Given the description of an element on the screen output the (x, y) to click on. 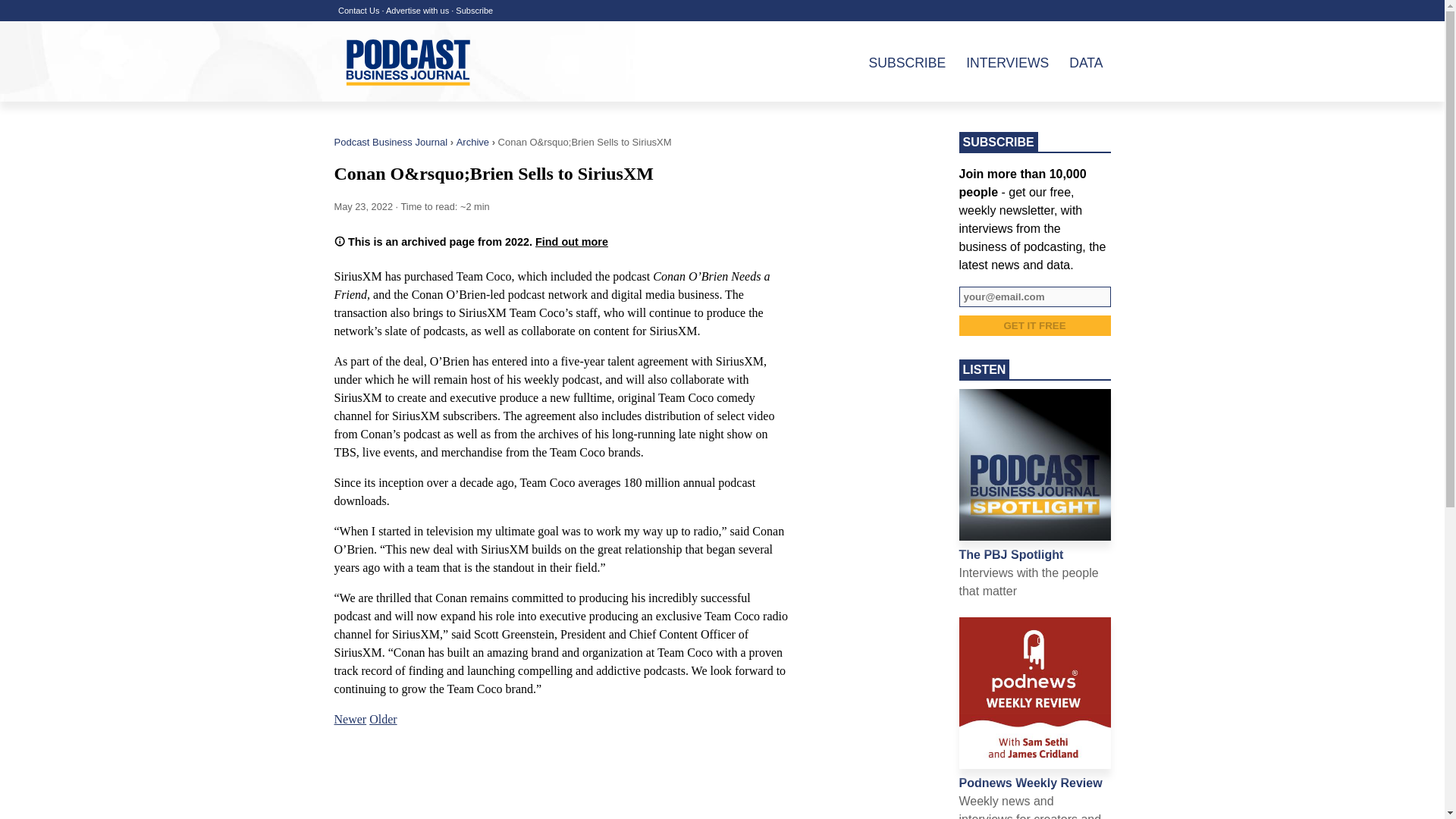
Older (382, 718)
Newer (349, 718)
Podcast Business Journal (389, 142)
SUBSCRIBE (898, 61)
Get it free (1033, 325)
DATA (1077, 61)
Contact Us (357, 10)
The PBJ Spotlight (1010, 554)
Get it free (1033, 325)
Advertise with us (416, 10)
Archive (473, 142)
Subscribe (474, 10)
Find out more (571, 241)
Podnews Weekly Review (1030, 782)
INTERVIEWS (998, 61)
